Given the description of an element on the screen output the (x, y) to click on. 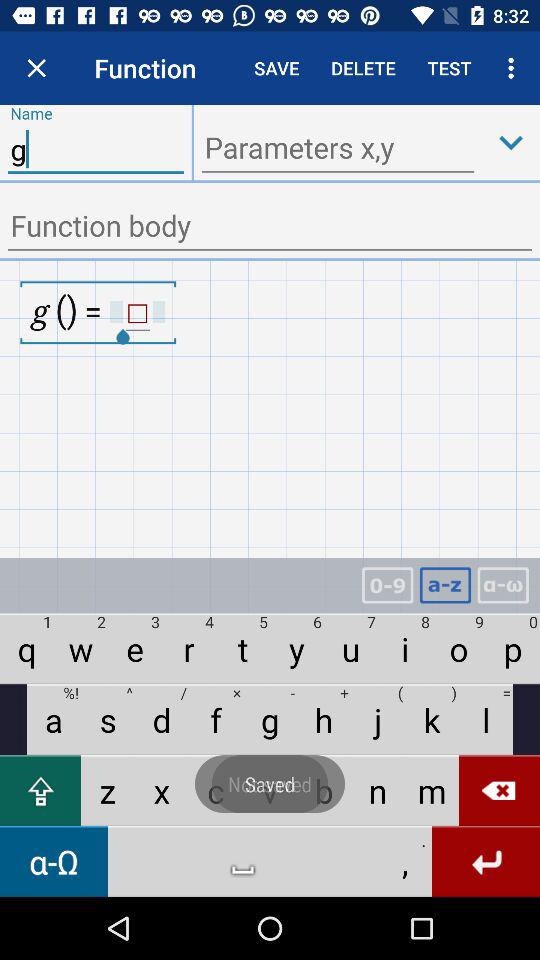
click on the alphabet tab right to the number tab above the keyboard (445, 585)
click on the last text from right corner which is above the button p (502, 585)
go to test (450, 68)
text called delete (363, 68)
click on downward icon below three dots (511, 142)
